Given the description of an element on the screen output the (x, y) to click on. 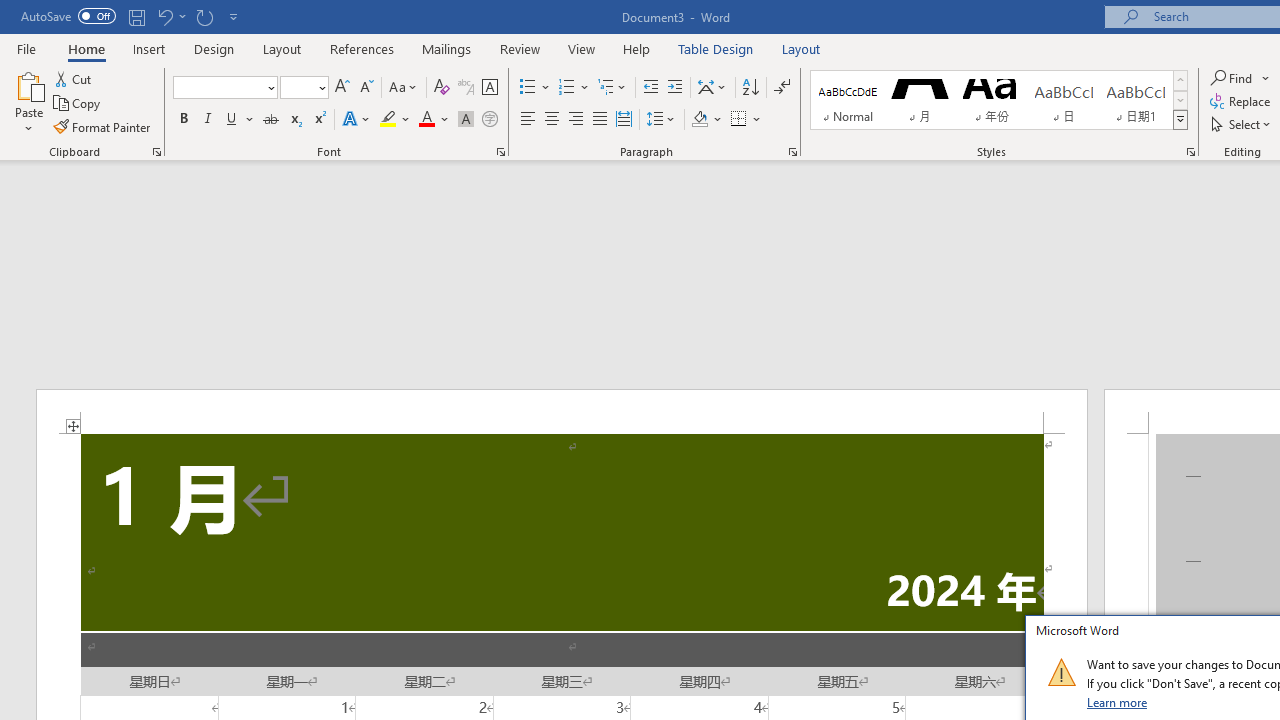
Layout (801, 48)
Undo Apply Quick Style (170, 15)
Underline (232, 119)
